Given the description of an element on the screen output the (x, y) to click on. 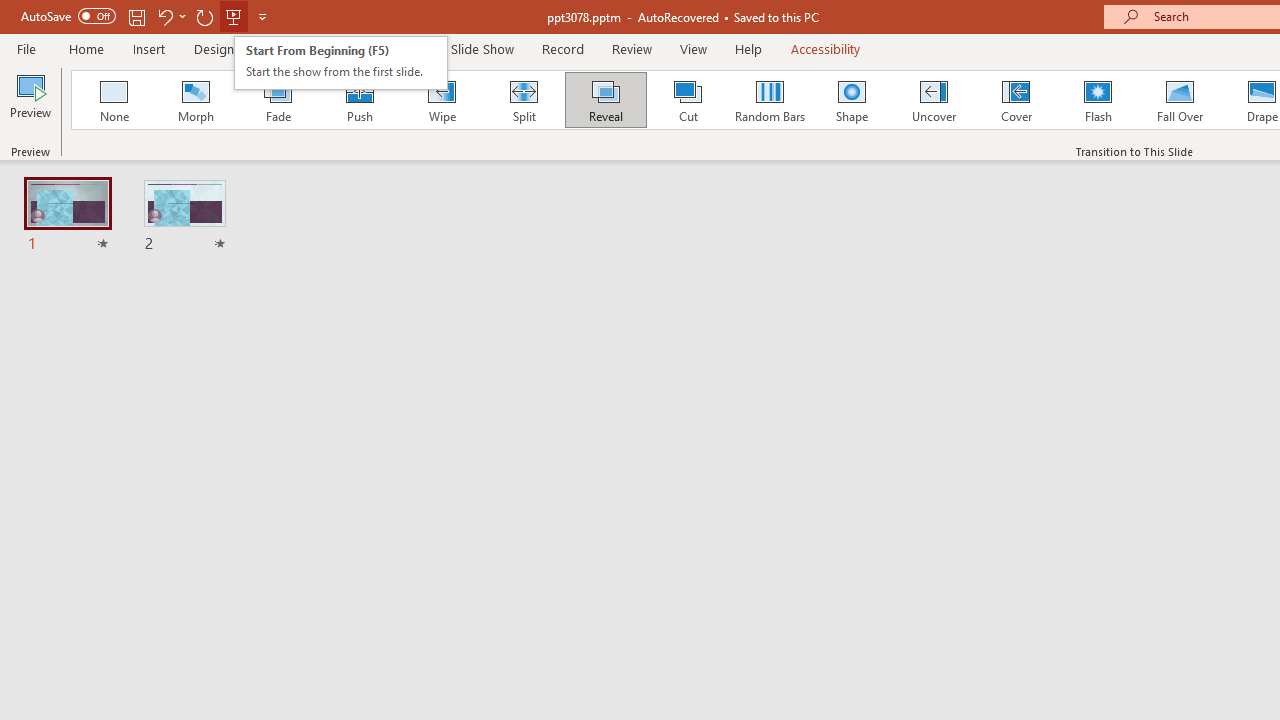
None (113, 100)
Reveal (605, 100)
Push (359, 100)
Fade (277, 100)
